Given the description of an element on the screen output the (x, y) to click on. 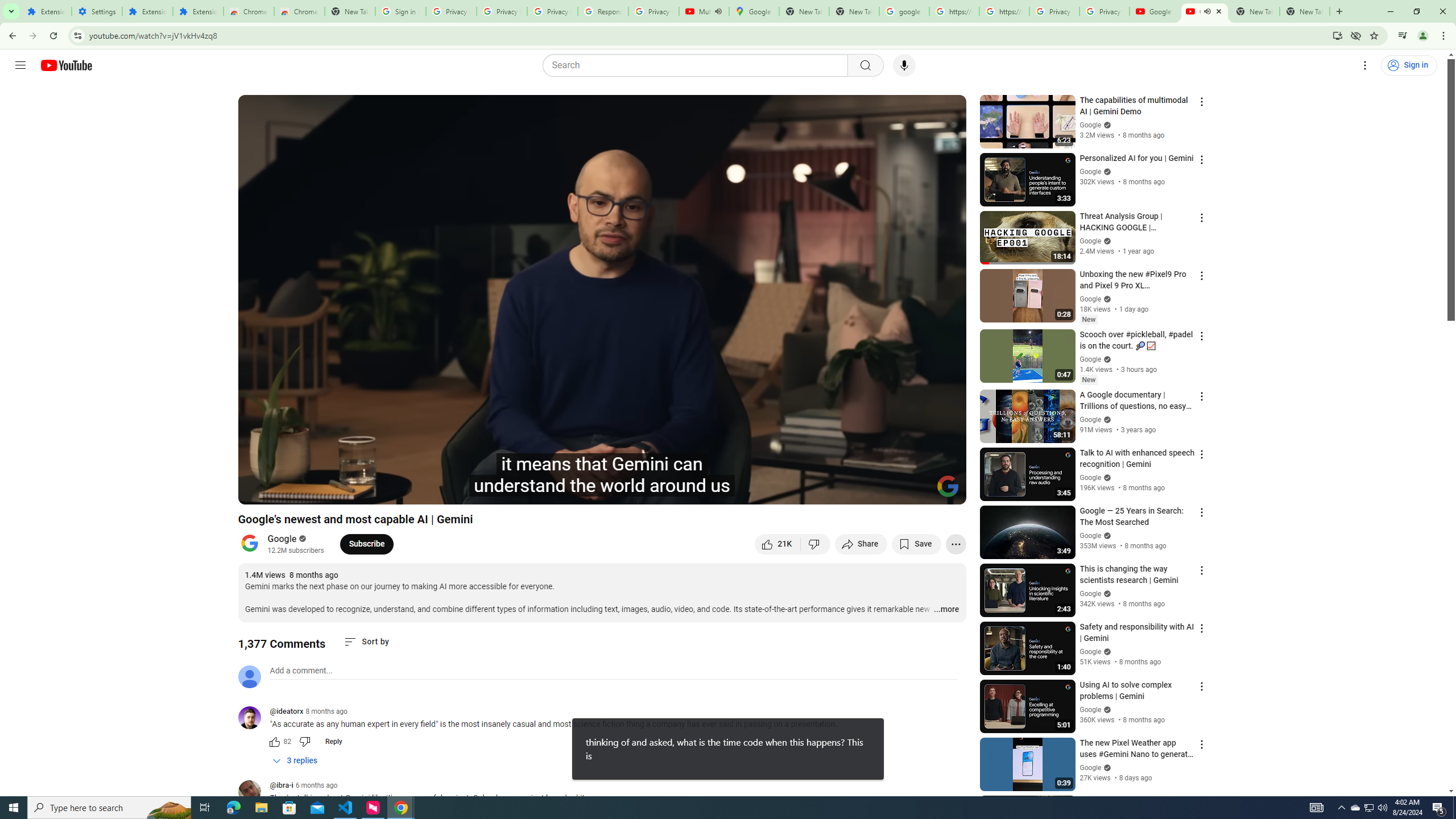
Seek slider (601, 476)
Chrome Web Store - Themes (299, 11)
@ideatorx (286, 711)
Share (861, 543)
@ideatorx (253, 717)
Full screen (f) (945, 490)
